Given the description of an element on the screen output the (x, y) to click on. 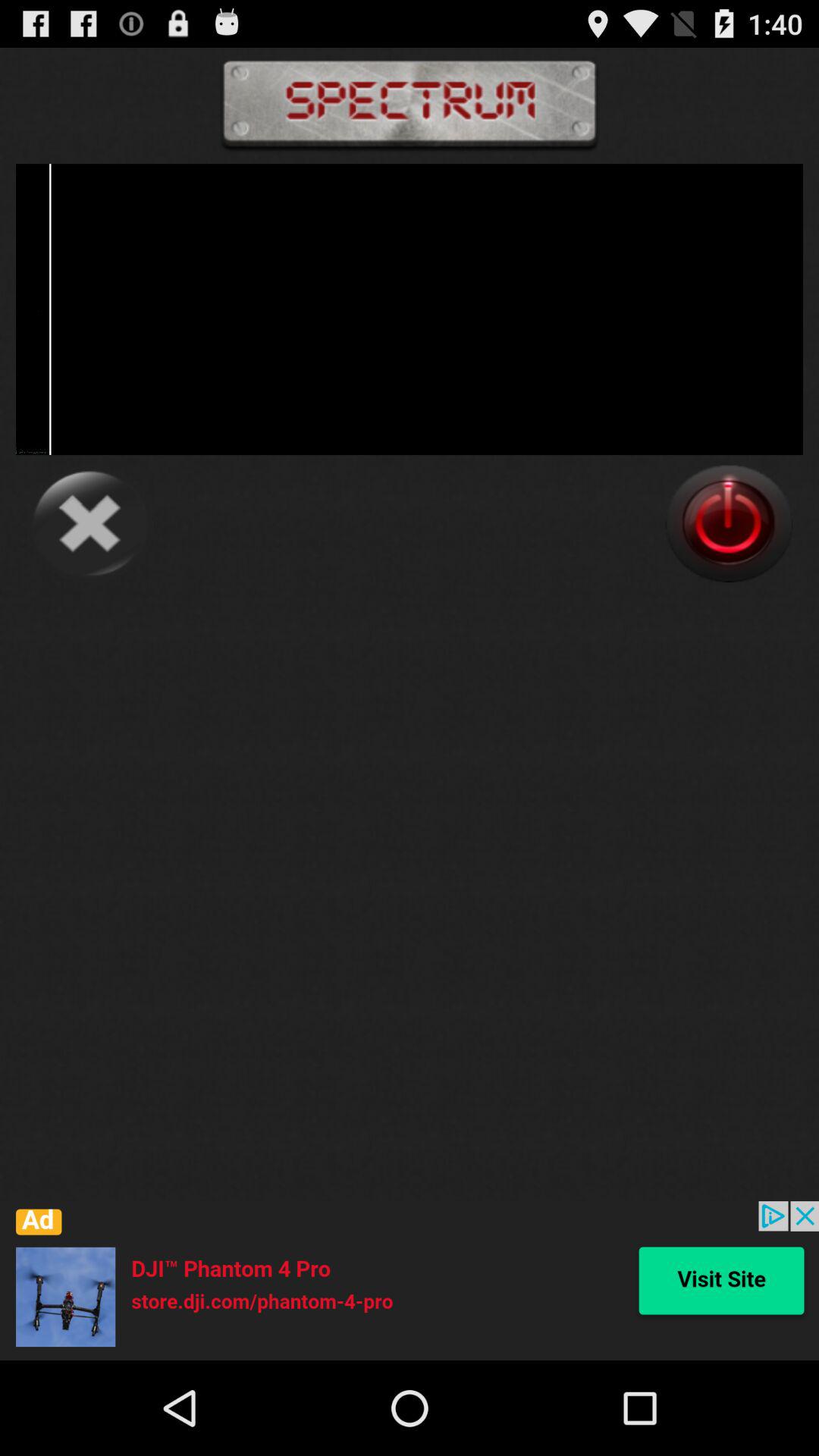
advertisement (409, 1280)
